Given the description of an element on the screen output the (x, y) to click on. 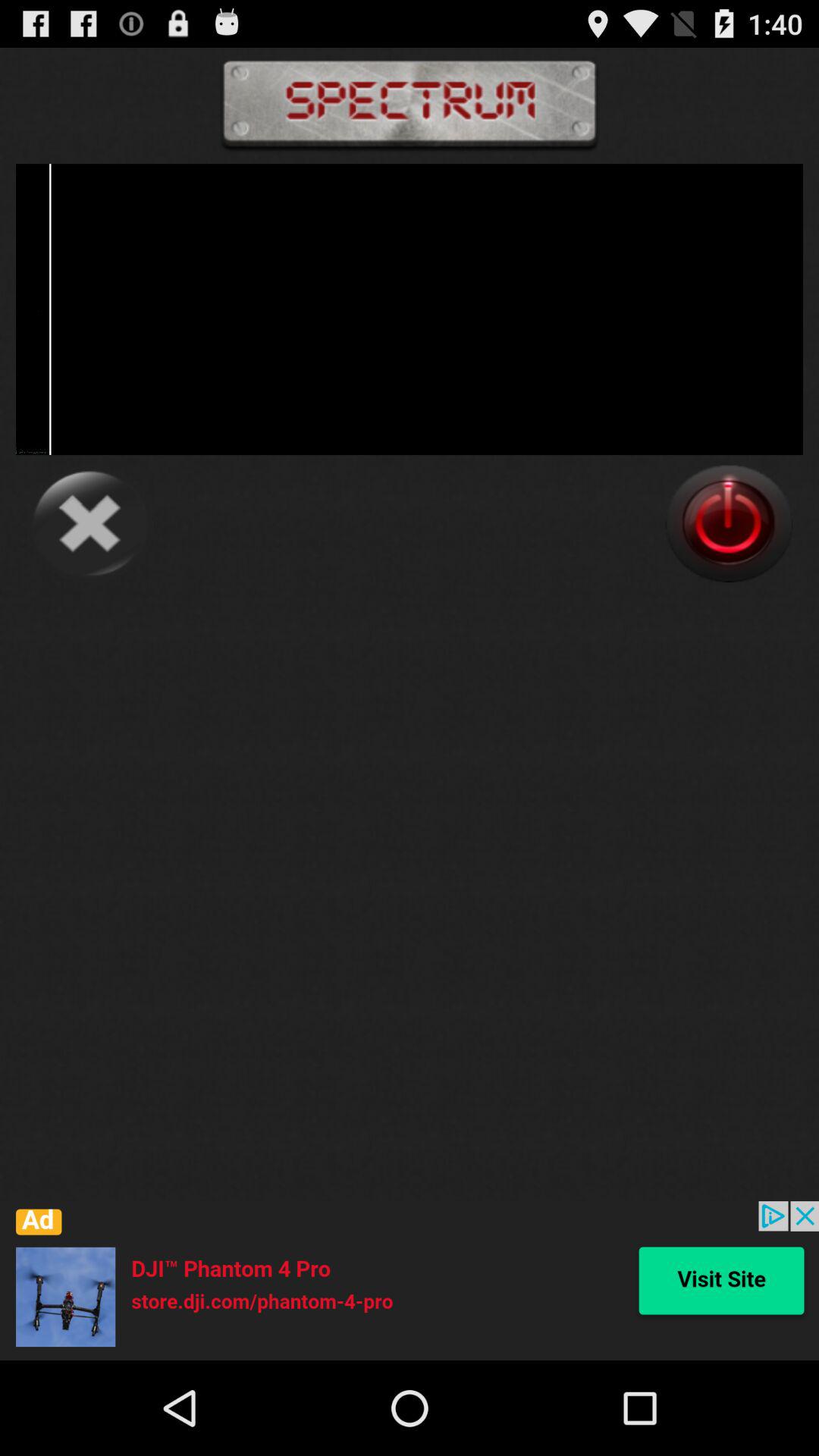
advertisement (409, 1280)
